Given the description of an element on the screen output the (x, y) to click on. 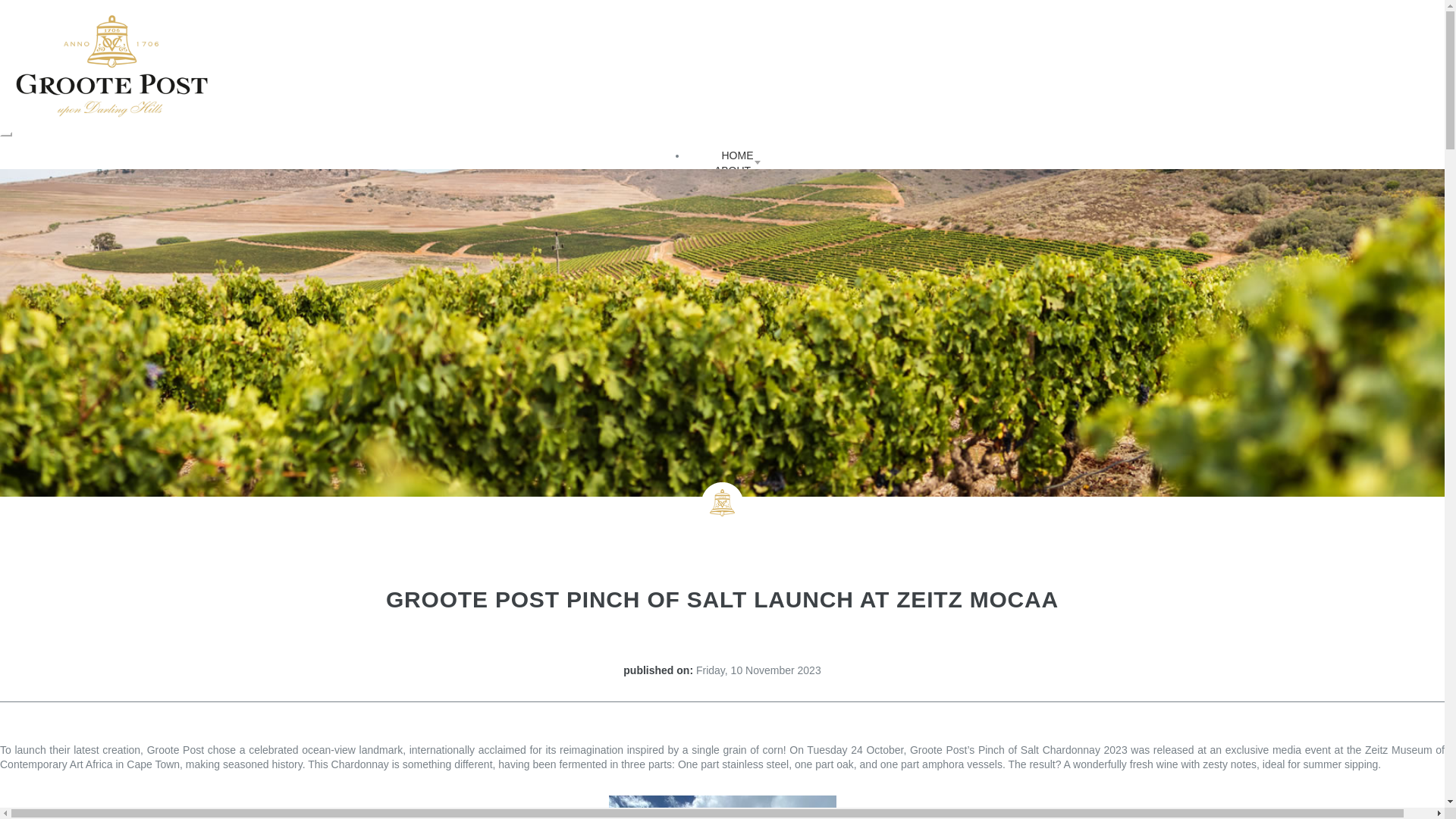
CONTACT (738, 259)
EXPERIENCES (737, 215)
RESTAURANT (737, 229)
WINE CLUB (737, 244)
Toggle navigation (5, 133)
HOME (737, 155)
OUR WINE (738, 200)
BUY WINE (737, 274)
HAPPENINGS (737, 185)
ABOUT (737, 170)
